Given the description of an element on the screen output the (x, y) to click on. 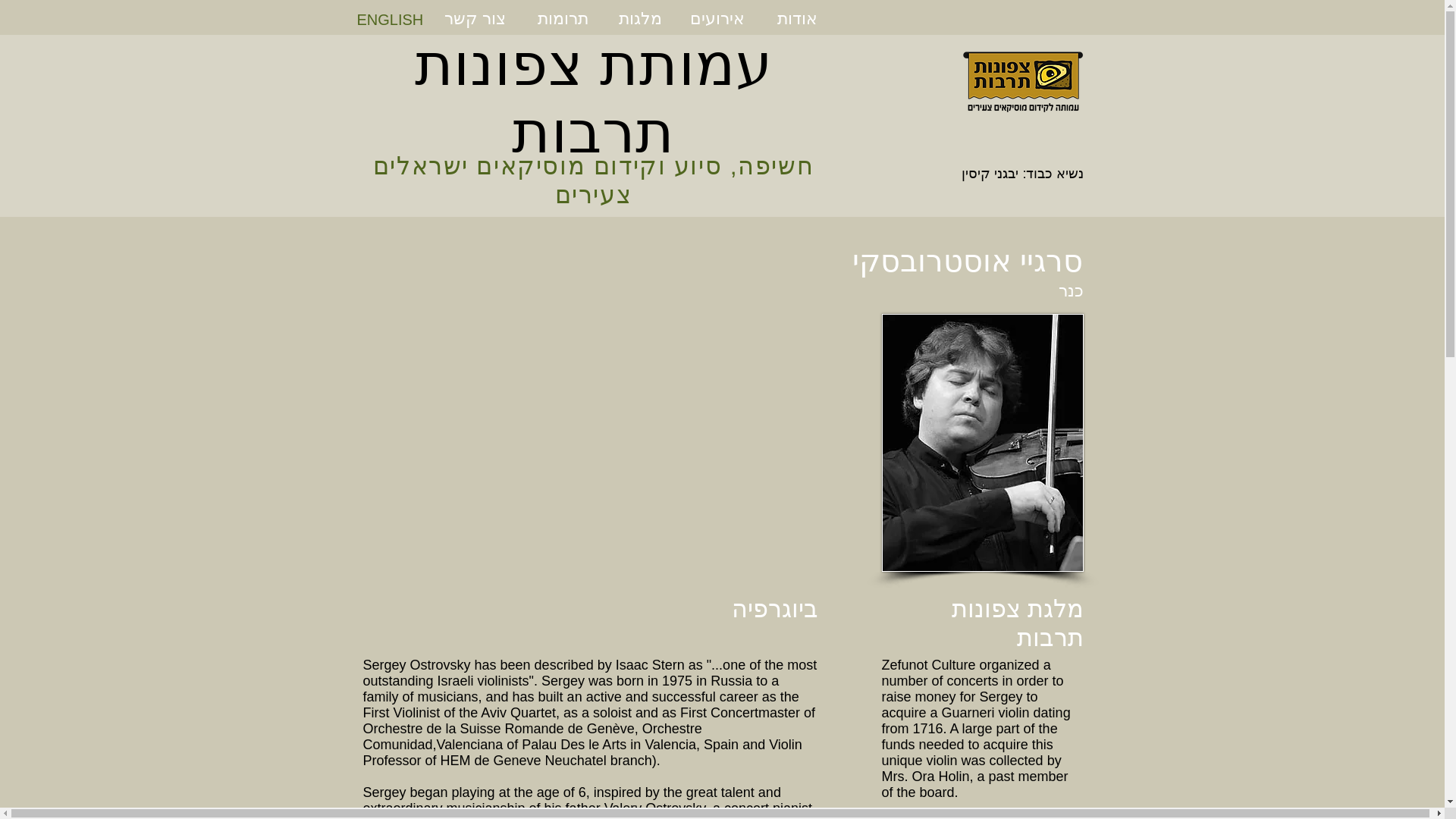
ENGLISH (389, 19)
External YouTube (589, 442)
